Given the description of an element on the screen output the (x, y) to click on. 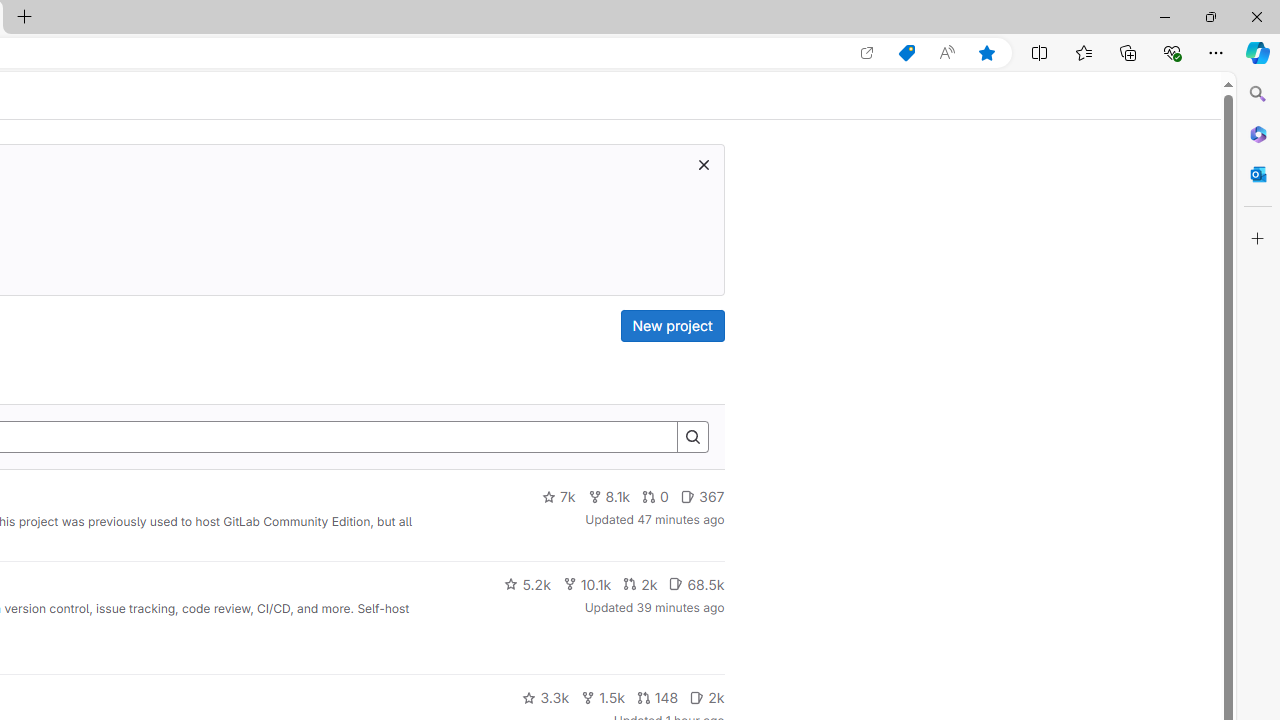
1.5k (602, 697)
5.2k (527, 583)
